Given the description of an element on the screen output the (x, y) to click on. 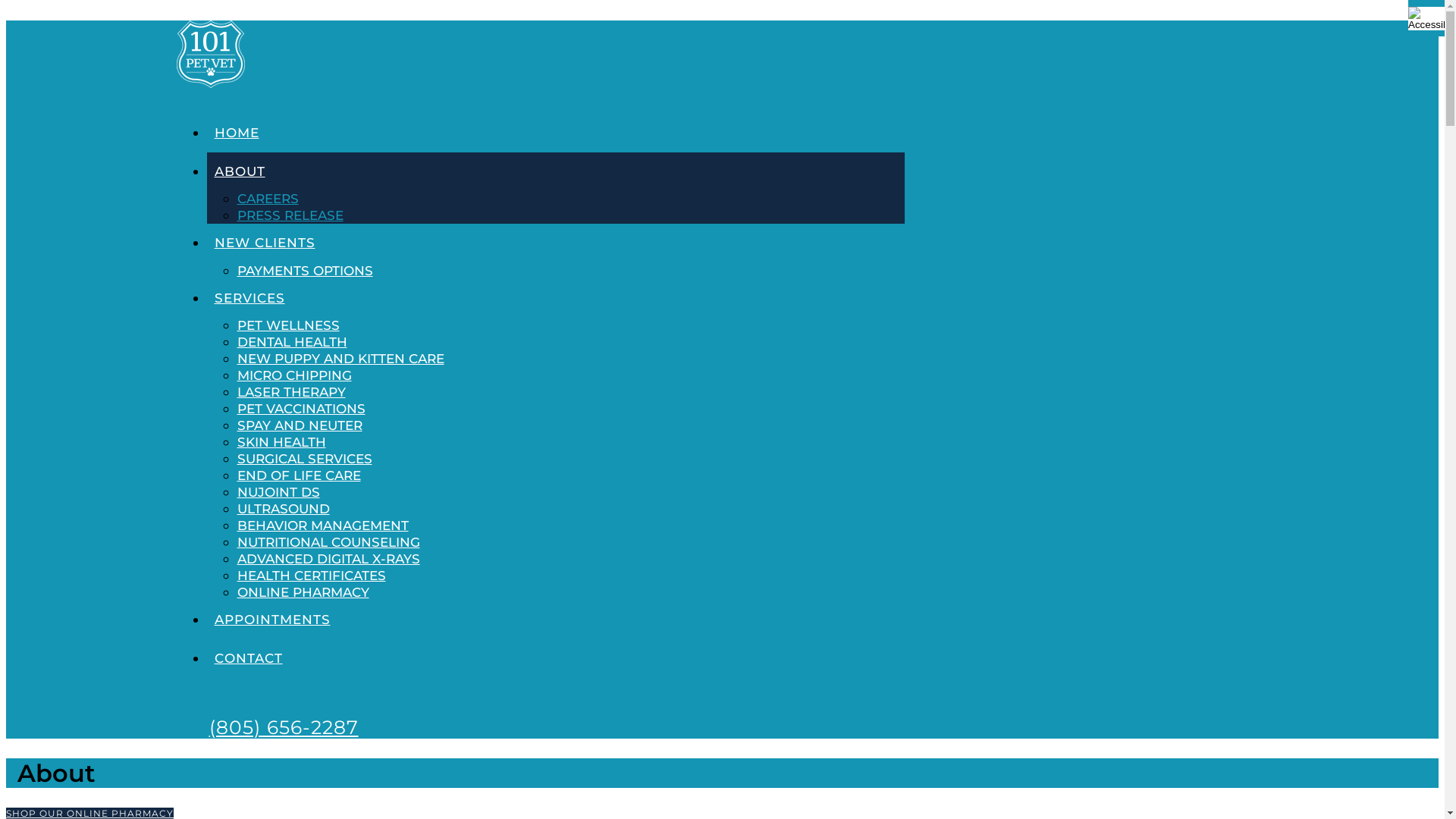
NUJOINT DS Element type: text (277, 491)
NUTRITIONAL COUNSELING Element type: text (327, 541)
SURGICAL SERVICES Element type: text (303, 458)
HEALTH CERTIFICATES Element type: text (310, 575)
HOME Element type: text (554, 132)
CAREERS Element type: text (267, 198)
LASER THERAPY Element type: text (290, 391)
BEHAVIOR MANAGEMENT Element type: text (321, 525)
DENTAL HEALTH Element type: text (291, 341)
ONLINE PHARMACY Element type: text (302, 591)
(805) 656-2287 Element type: text (283, 726)
SPAY AND NEUTER Element type: text (298, 425)
END OF LIFE CARE Element type: text (298, 475)
APPOINTMENTS Element type: text (554, 619)
PAYMENTS OPTIONS Element type: text (304, 270)
SERVICES Element type: text (554, 298)
PRESS RELEASE Element type: text (289, 214)
ADVANCED DIGITAL X-RAYS Element type: text (327, 558)
MICRO CHIPPING Element type: text (293, 374)
ULTRASOUND Element type: text (282, 508)
ABOUT Element type: text (554, 171)
SKIN HEALTH Element type: text (280, 441)
PET VACCINATIONS Element type: text (300, 408)
CONTACT Element type: text (554, 658)
NEW CLIENTS Element type: text (554, 242)
Accessibility Helper sidebar Element type: hover (1426, 18)
NEW PUPPY AND KITTEN CARE Element type: text (339, 358)
PET WELLNESS Element type: text (287, 324)
